Given the description of an element on the screen output the (x, y) to click on. 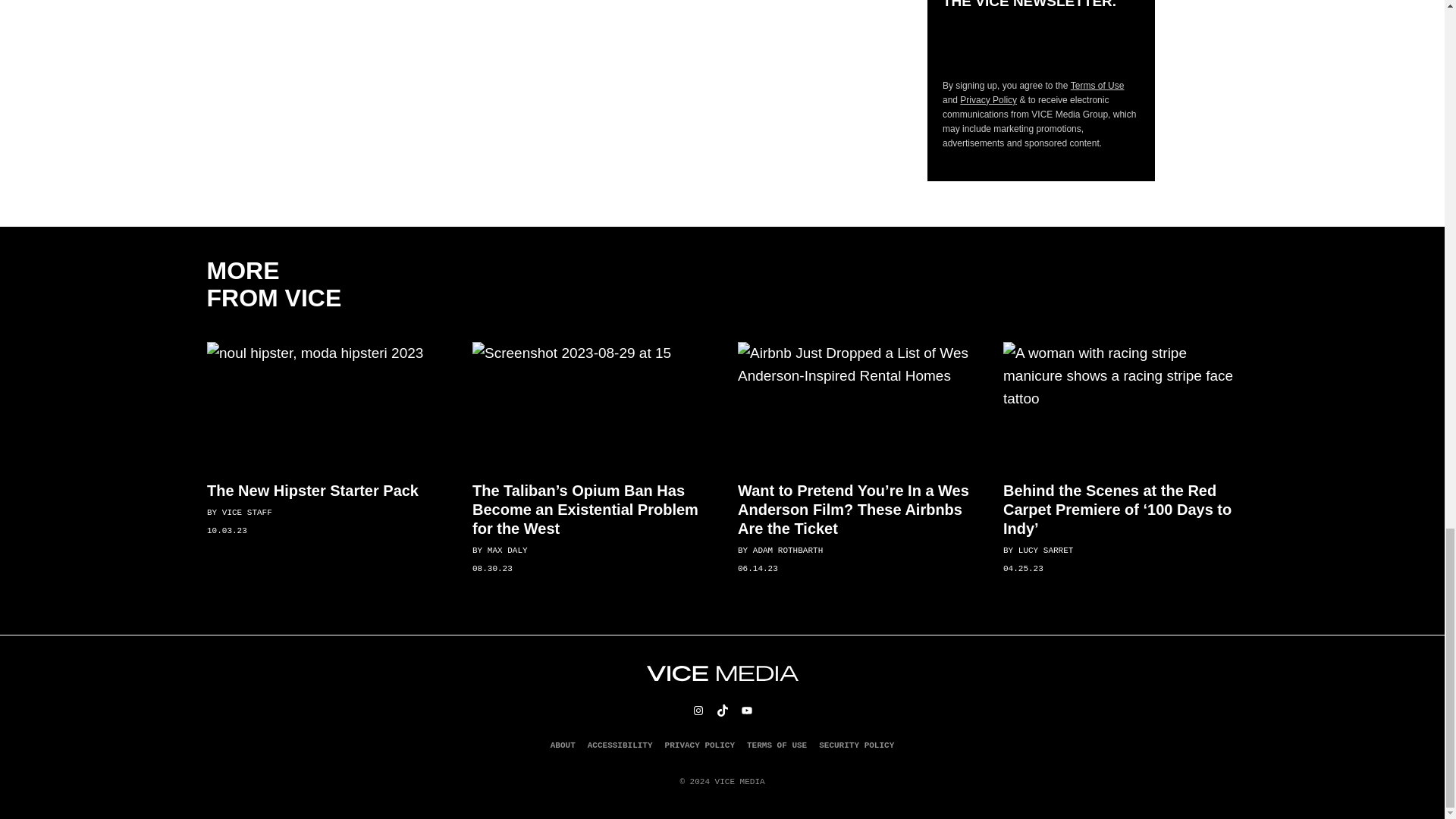
Posts by Adam Rothbarth (787, 550)
Newsletter Signup Form (1040, 43)
Posts by Max Daly (506, 550)
Posts by Lucy Sarret (1045, 550)
Posts by VICE Staff (245, 511)
